Given the description of an element on the screen output the (x, y) to click on. 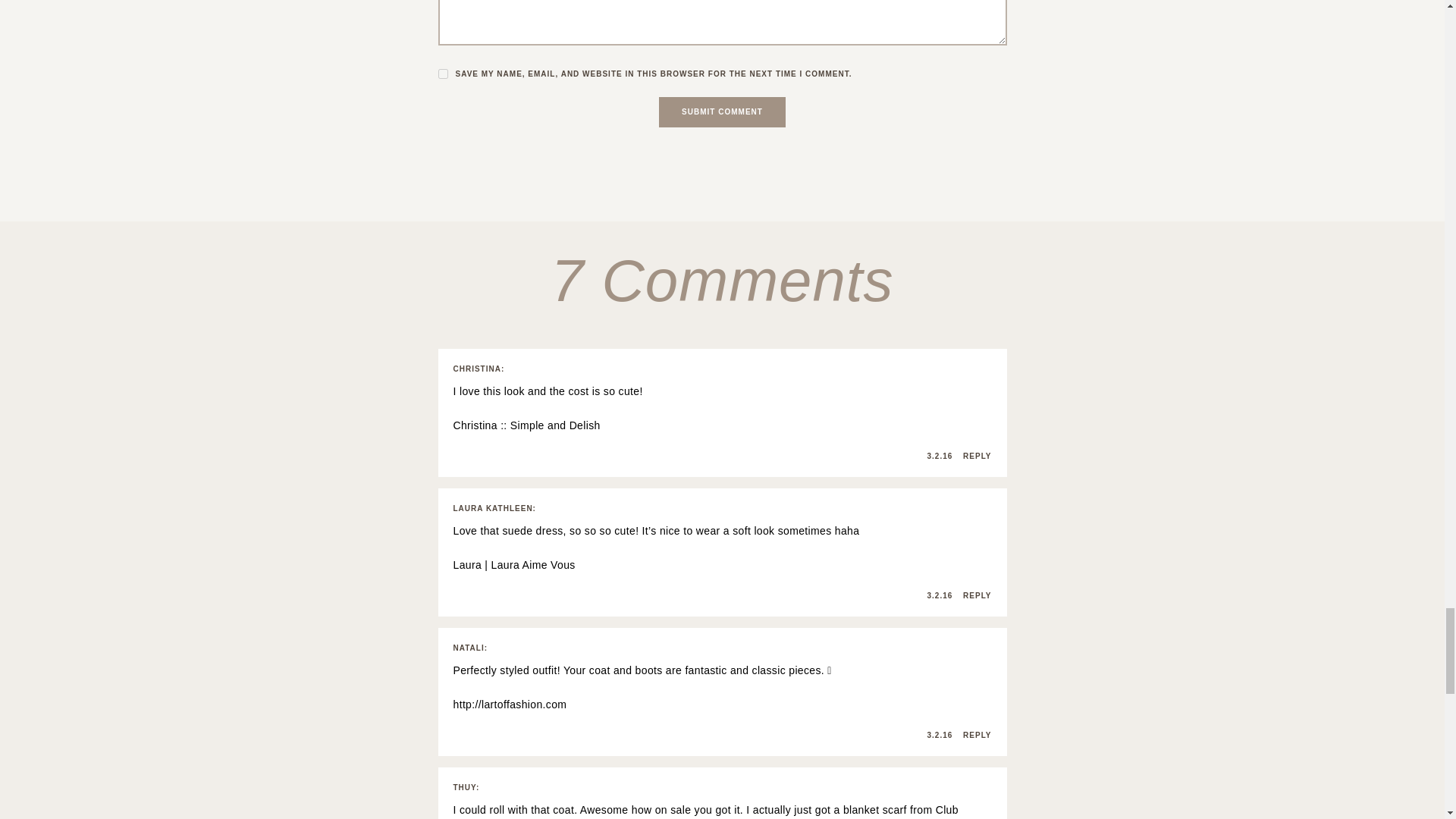
yes (443, 73)
Submit Comment (722, 112)
